Given the description of an element on the screen output the (x, y) to click on. 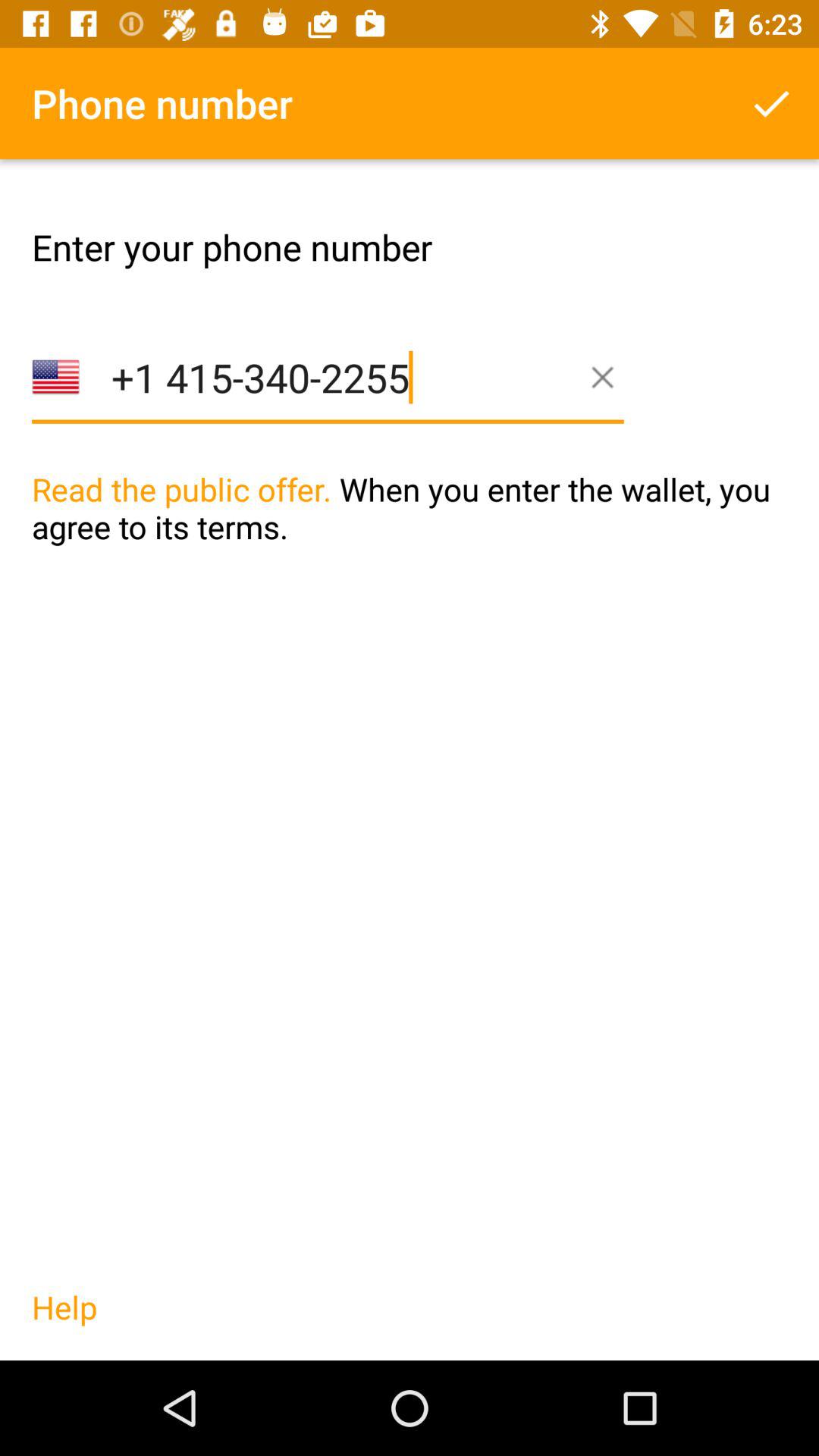
click the icon below the read the public item (64, 1322)
